Given the description of an element on the screen output the (x, y) to click on. 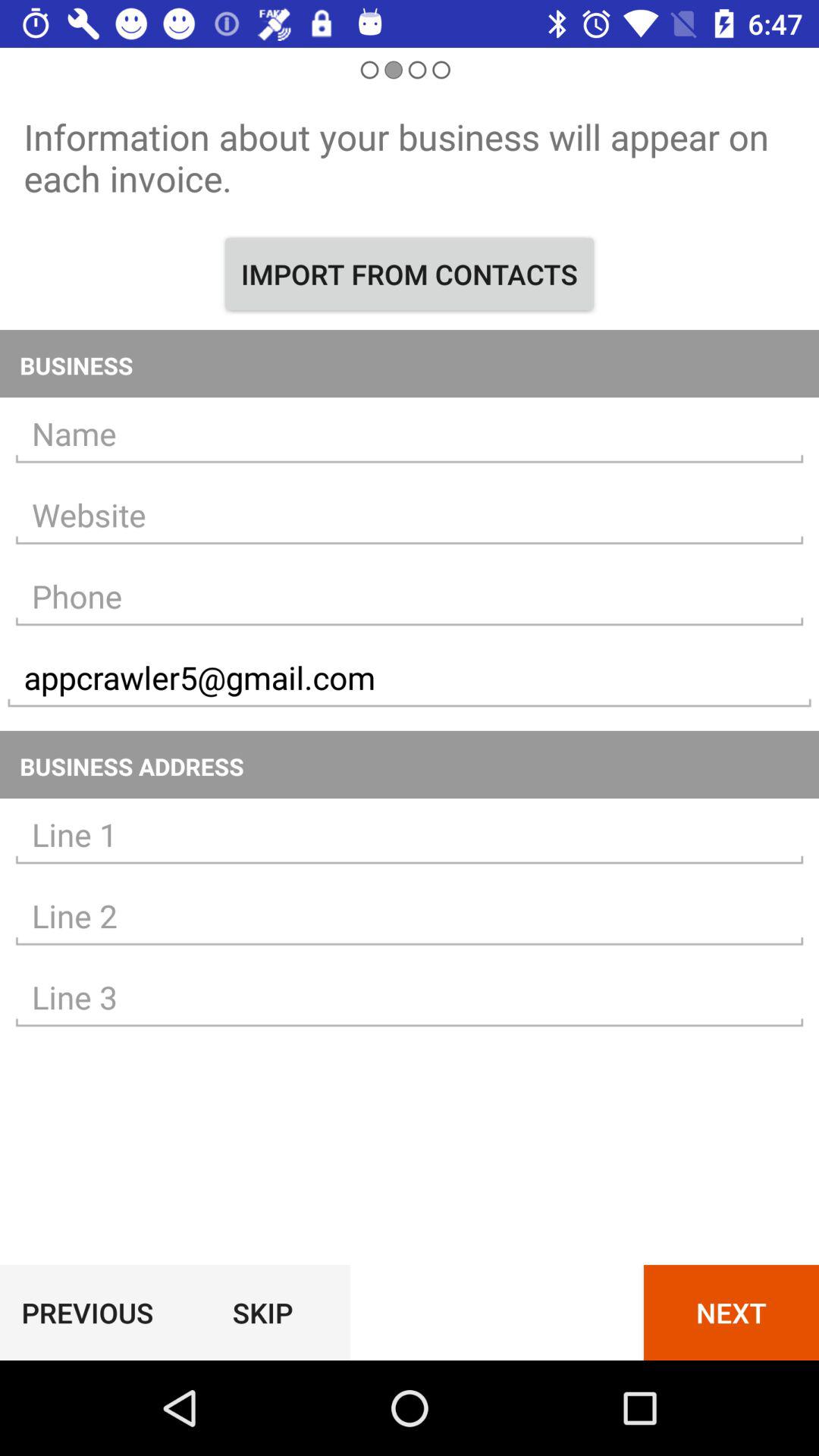
open the icon to the left of skip (87, 1312)
